Given the description of an element on the screen output the (x, y) to click on. 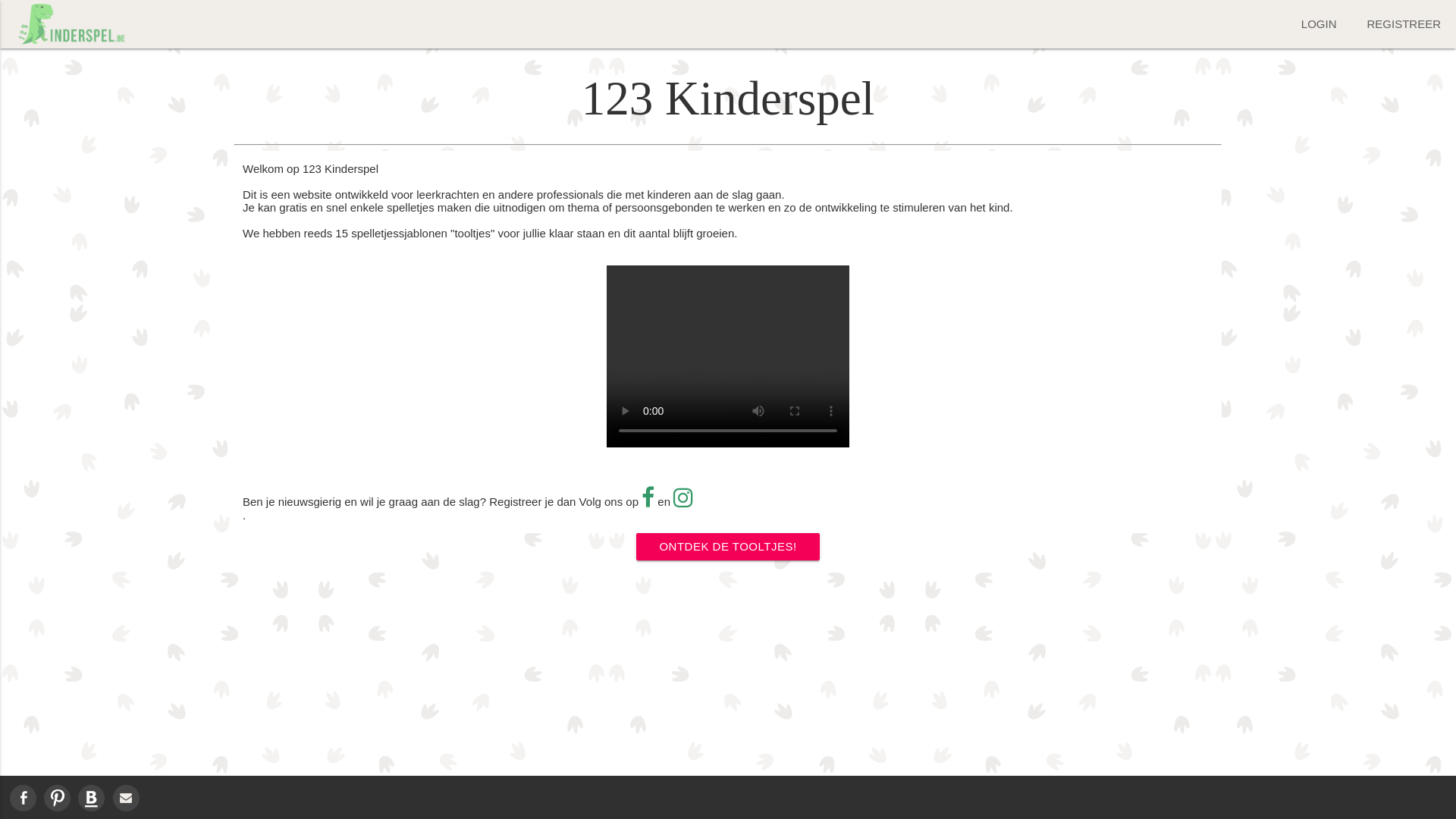
pinterest Element type: hover (56, 797)
LOGIN Element type: text (1319, 24)
mail Element type: hover (125, 797)
facebook Element type: hover (22, 797)
ONTDEK DE TOOLTJES! Element type: text (727, 546)
blog Element type: hover (91, 797)
